Given the description of an element on the screen output the (x, y) to click on. 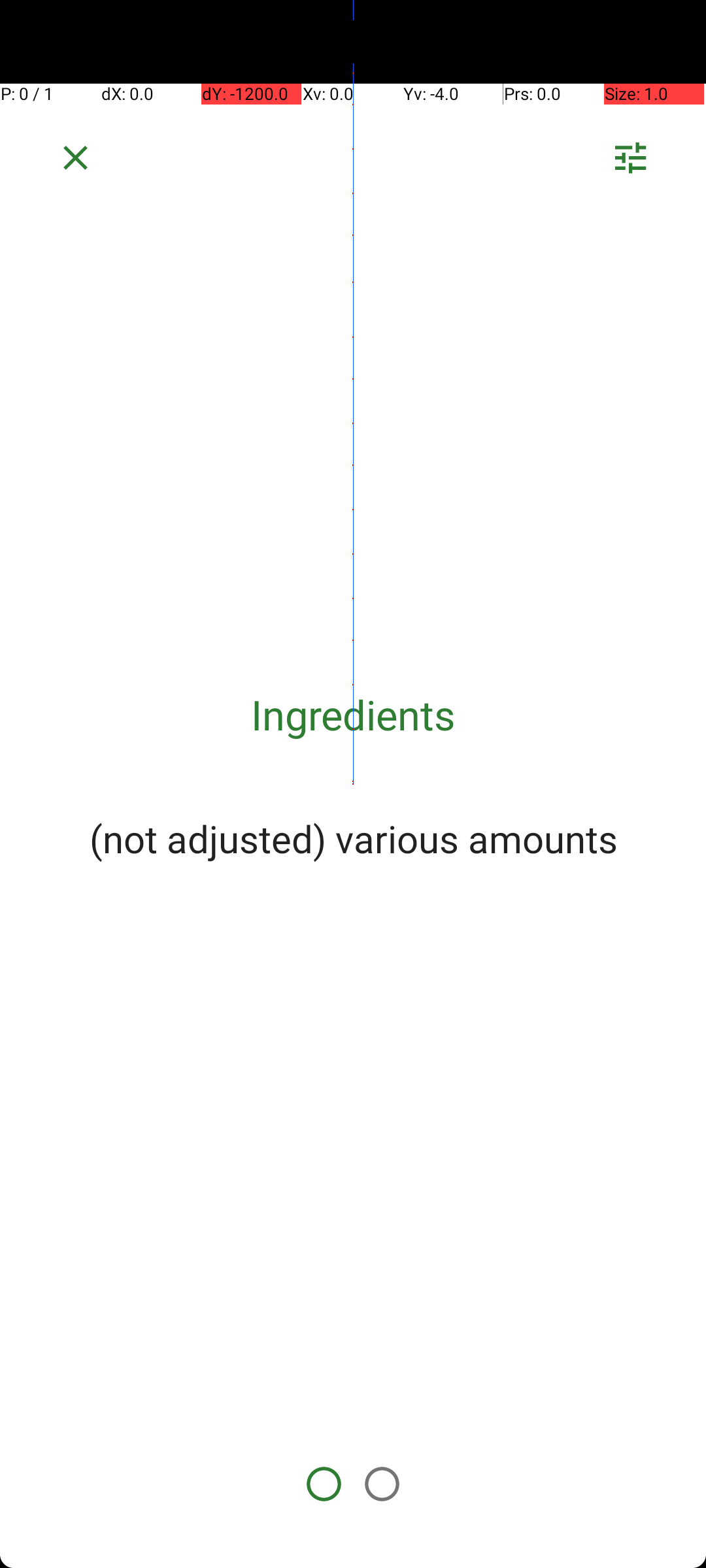
(not adjusted) various amounts Element type: android.widget.TextView (352, 838)
